Given the description of an element on the screen output the (x, y) to click on. 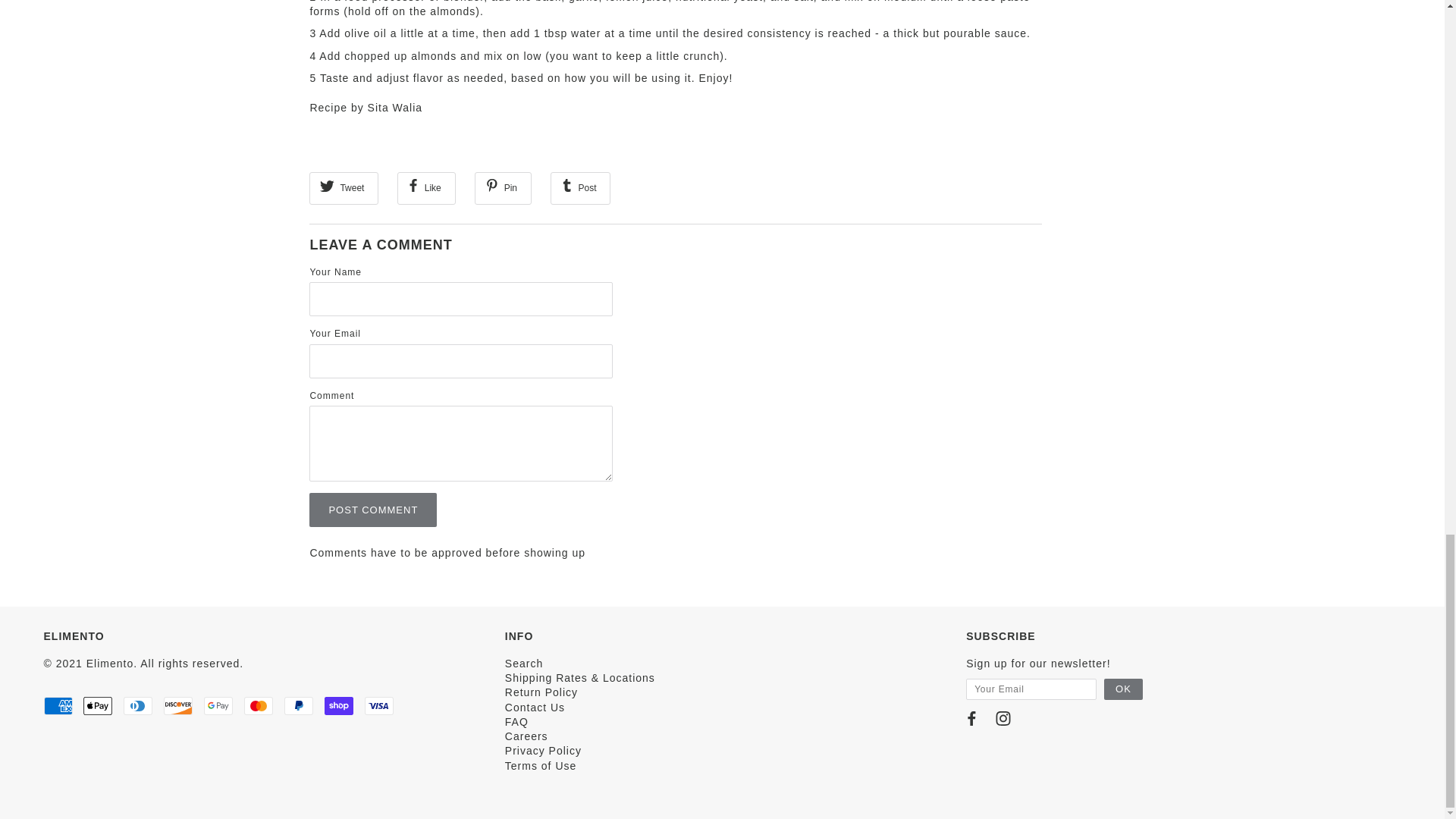
Return Policy (541, 692)
Contact Us (534, 707)
Apple Pay (97, 705)
Post Comment (372, 510)
Careers (526, 736)
Terms of Use (540, 766)
FAQ (516, 721)
Diners Club (137, 705)
OK (1122, 689)
American Express (57, 705)
